Given the description of an element on the screen output the (x, y) to click on. 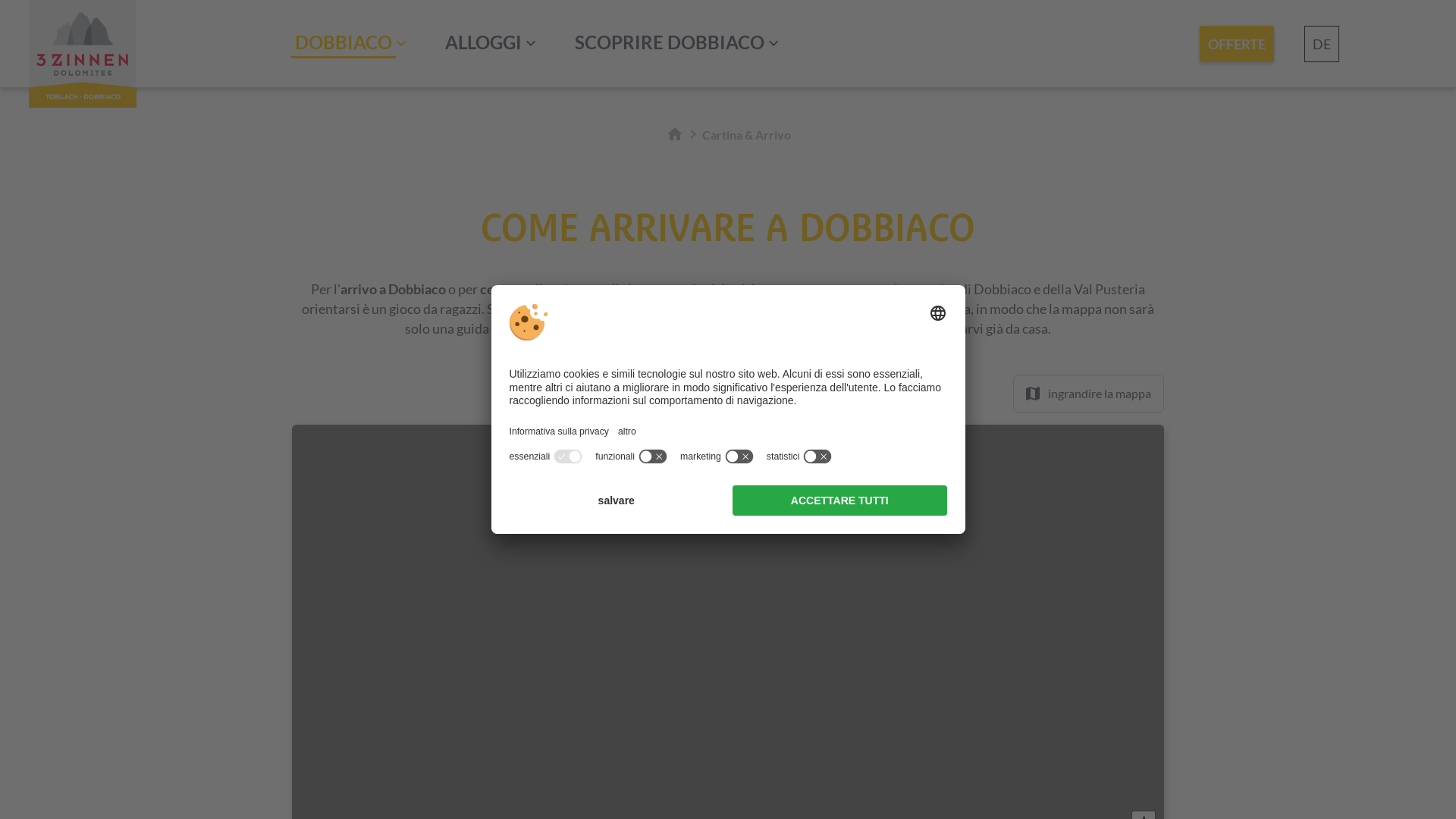
ALLOGGI Element type: text (483, 43)
DOBBIACO Element type: text (343, 43)
DE Element type: text (1321, 43)
home Element type: text (674, 134)
OFFERTE Element type: text (1236, 43)
SCOPRIRE DOBBIACO Element type: text (669, 43)
Dobbiaco Element type: hover (82, 102)
ingrandire la mappa Element type: text (1088, 393)
